Given the description of an element on the screen output the (x, y) to click on. 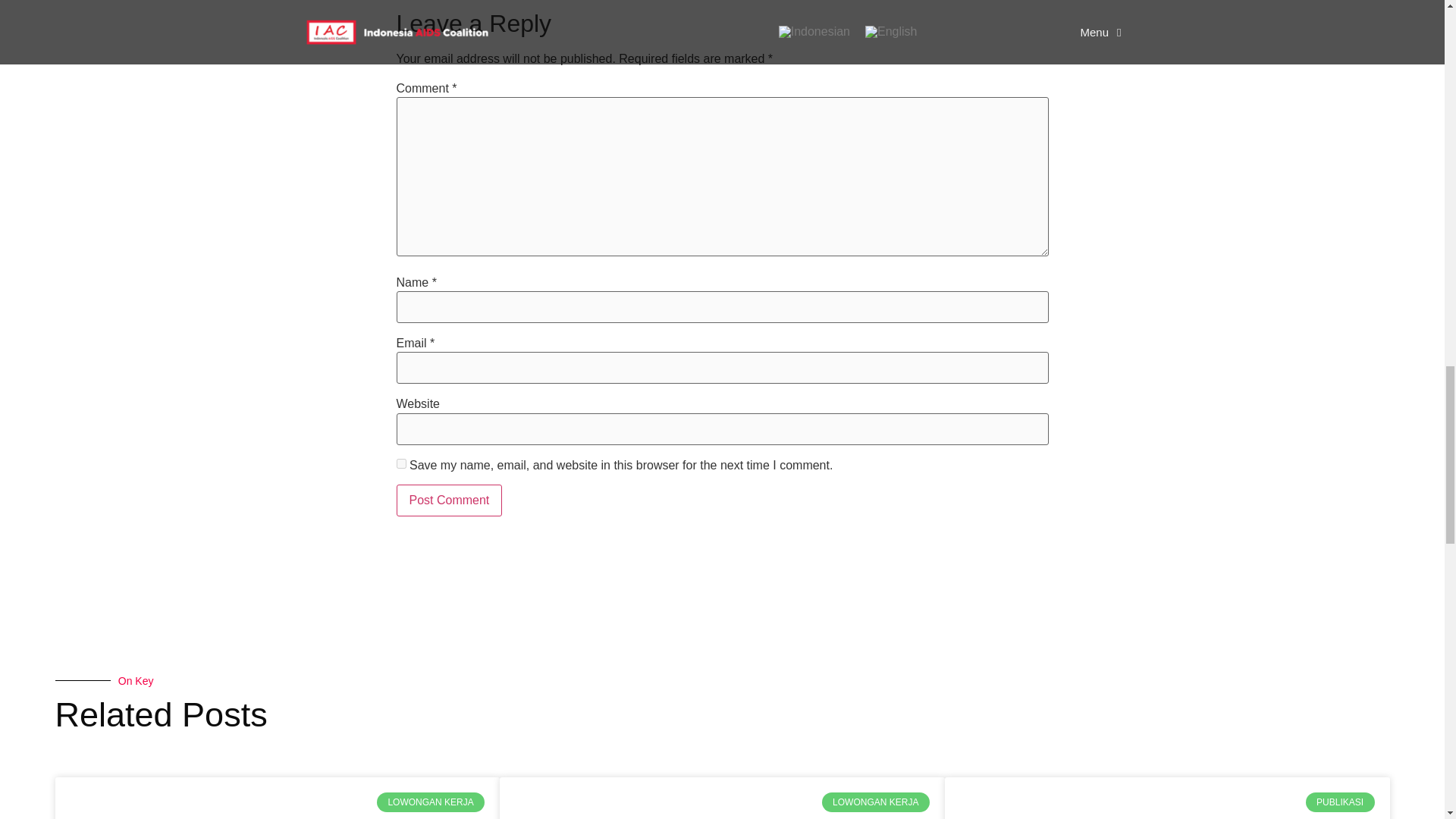
yes (401, 463)
Post Comment (449, 500)
Post Comment (449, 500)
